Given the description of an element on the screen output the (x, y) to click on. 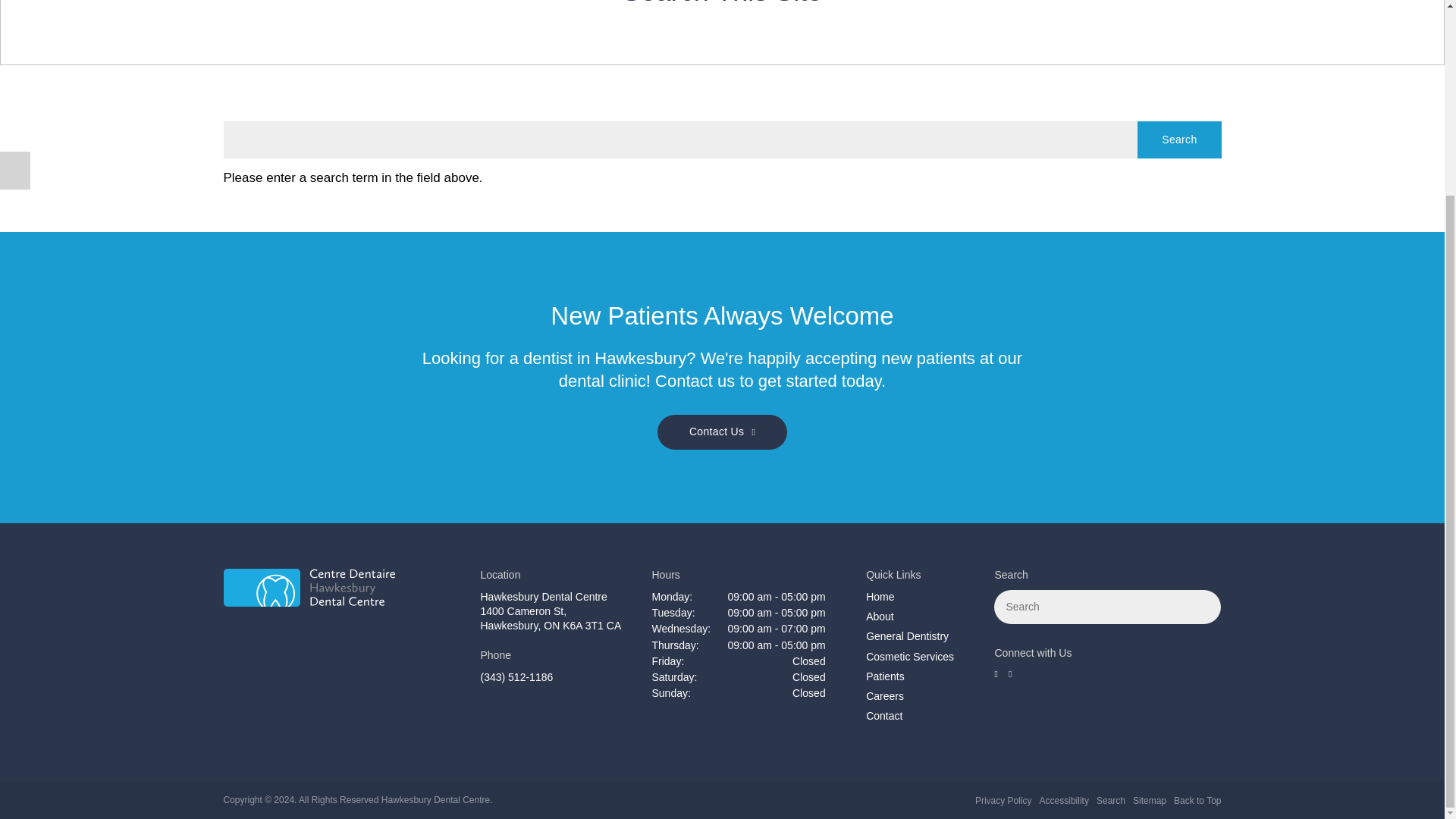
Search (1179, 139)
